Given the description of an element on the screen output the (x, y) to click on. 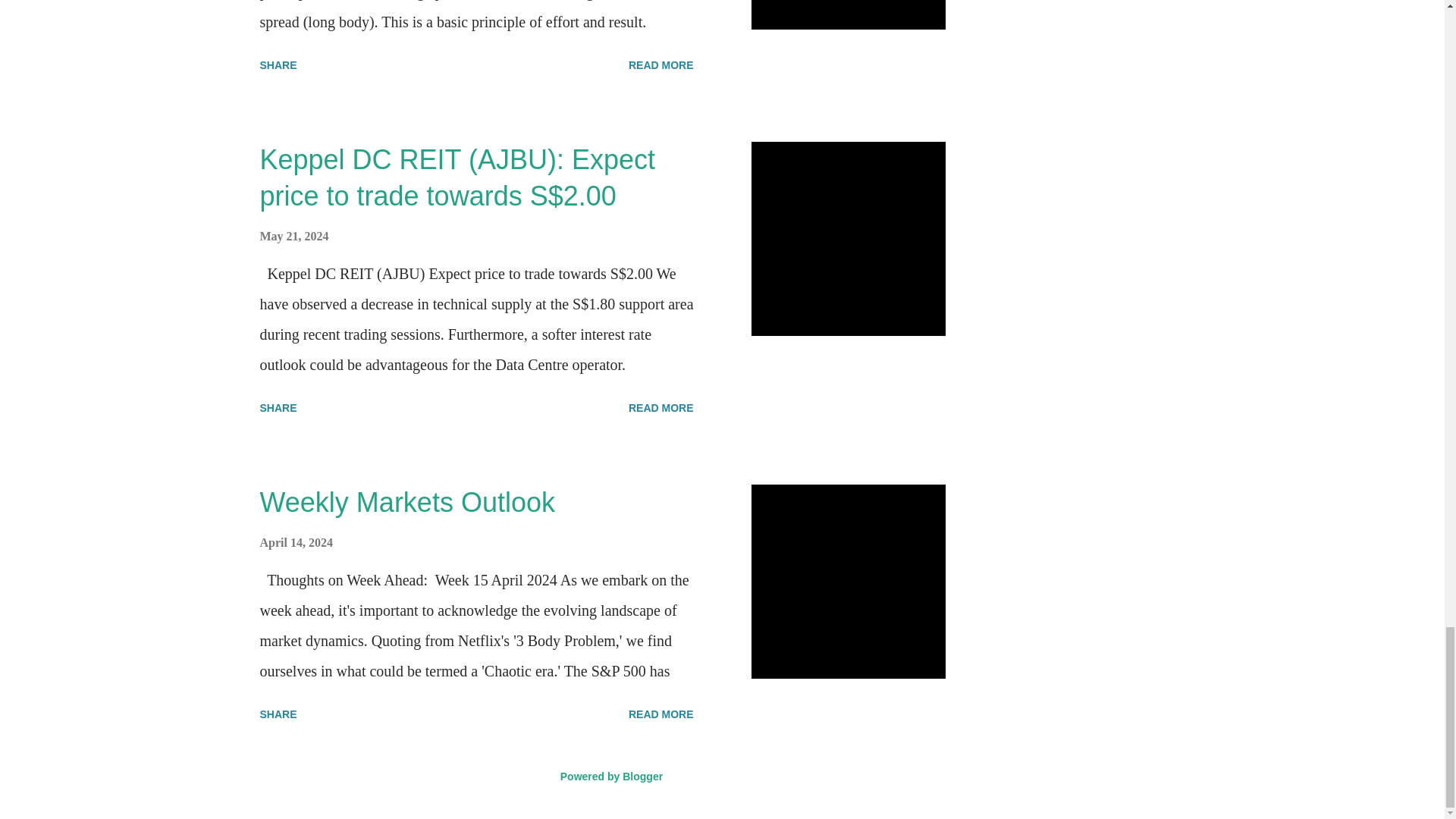
SHARE (277, 713)
April 14, 2024 (295, 542)
READ MORE (661, 407)
SHARE (277, 407)
READ MORE (661, 64)
Weekly Markets Outlook (406, 501)
SHARE (277, 64)
READ MORE (661, 713)
May 21, 2024 (294, 236)
